Given the description of an element on the screen output the (x, y) to click on. 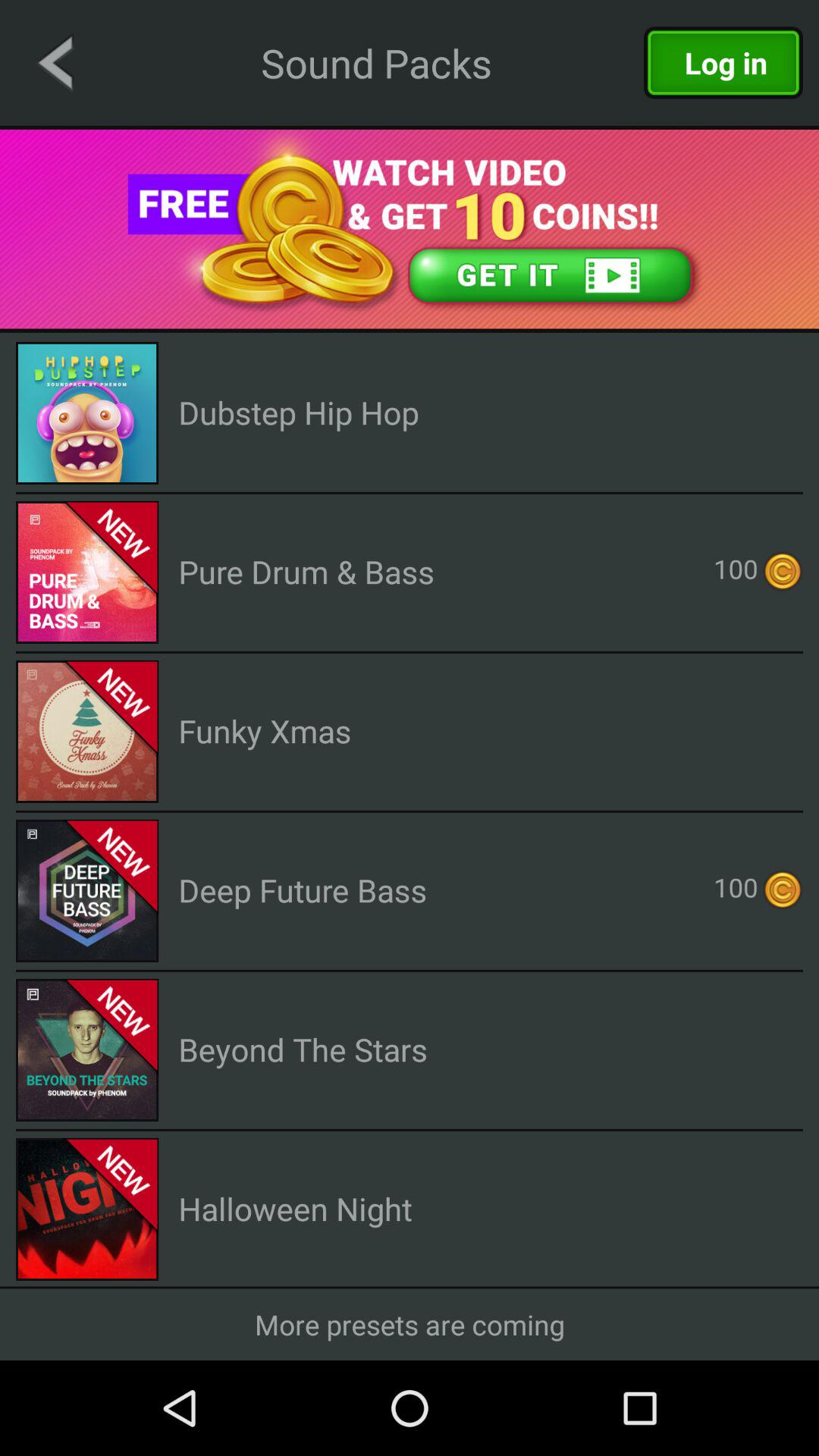
open the add (409, 228)
